Given the description of an element on the screen output the (x, y) to click on. 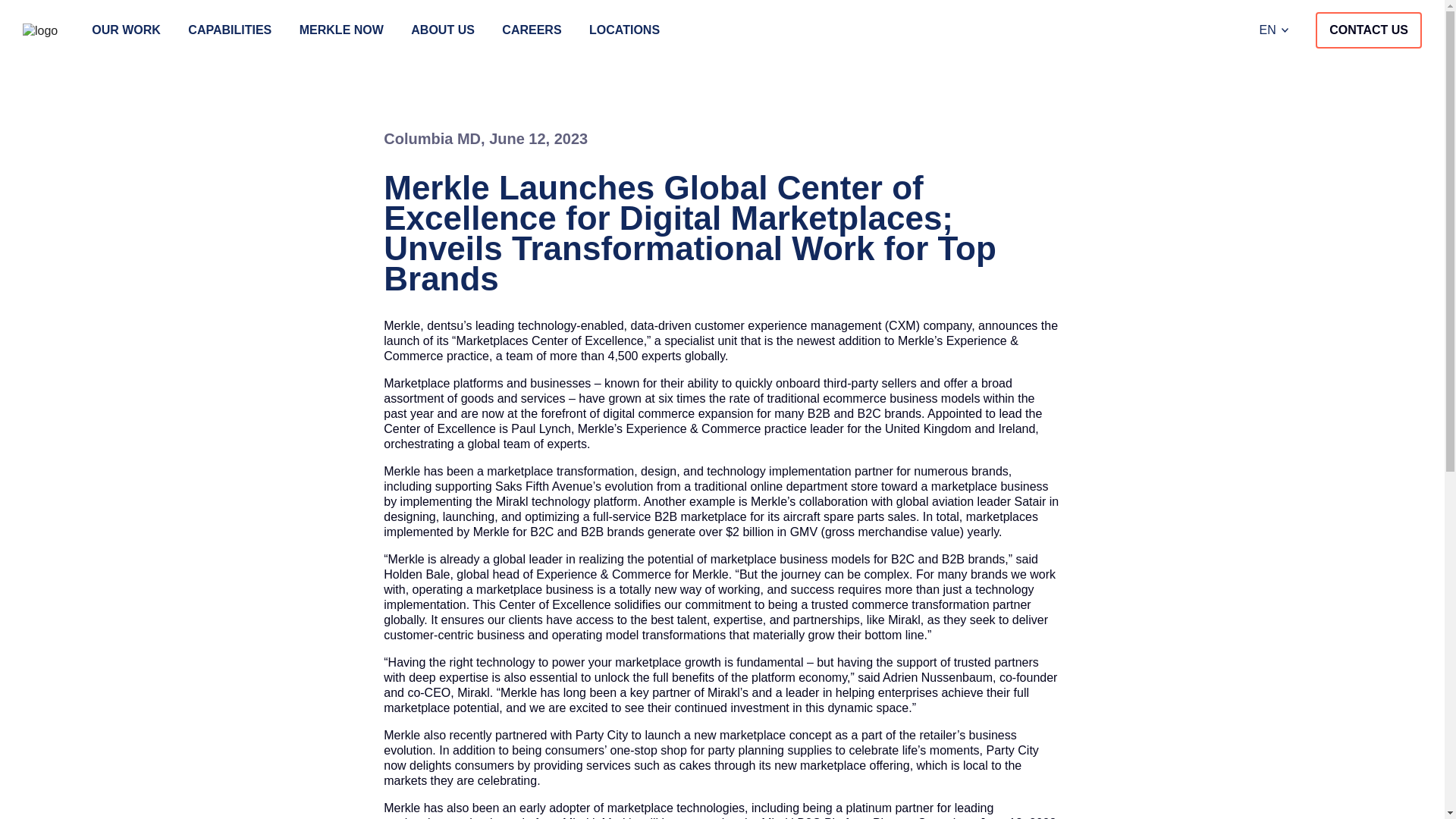
OUR WORK (125, 30)
MERKLE NOW (341, 30)
LOCATIONS (624, 30)
CAREERS (531, 30)
merkle-full-logo-lt.svg (40, 30)
ABOUT US (442, 30)
CAPABILITIES (228, 30)
